Given the description of an element on the screen output the (x, y) to click on. 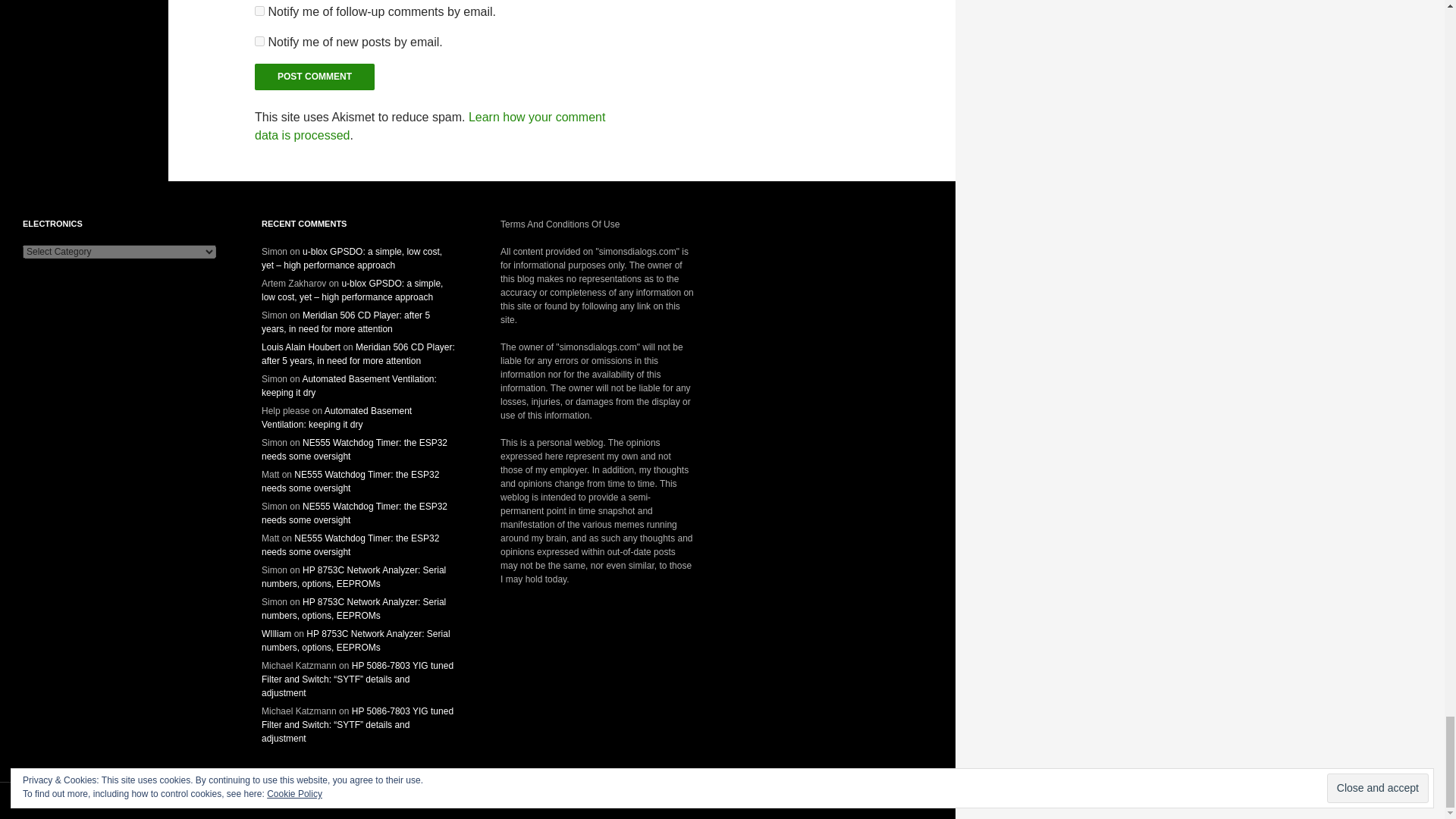
Post Comment (314, 76)
subscribe (259, 10)
subscribe (259, 40)
